Given the description of an element on the screen output the (x, y) to click on. 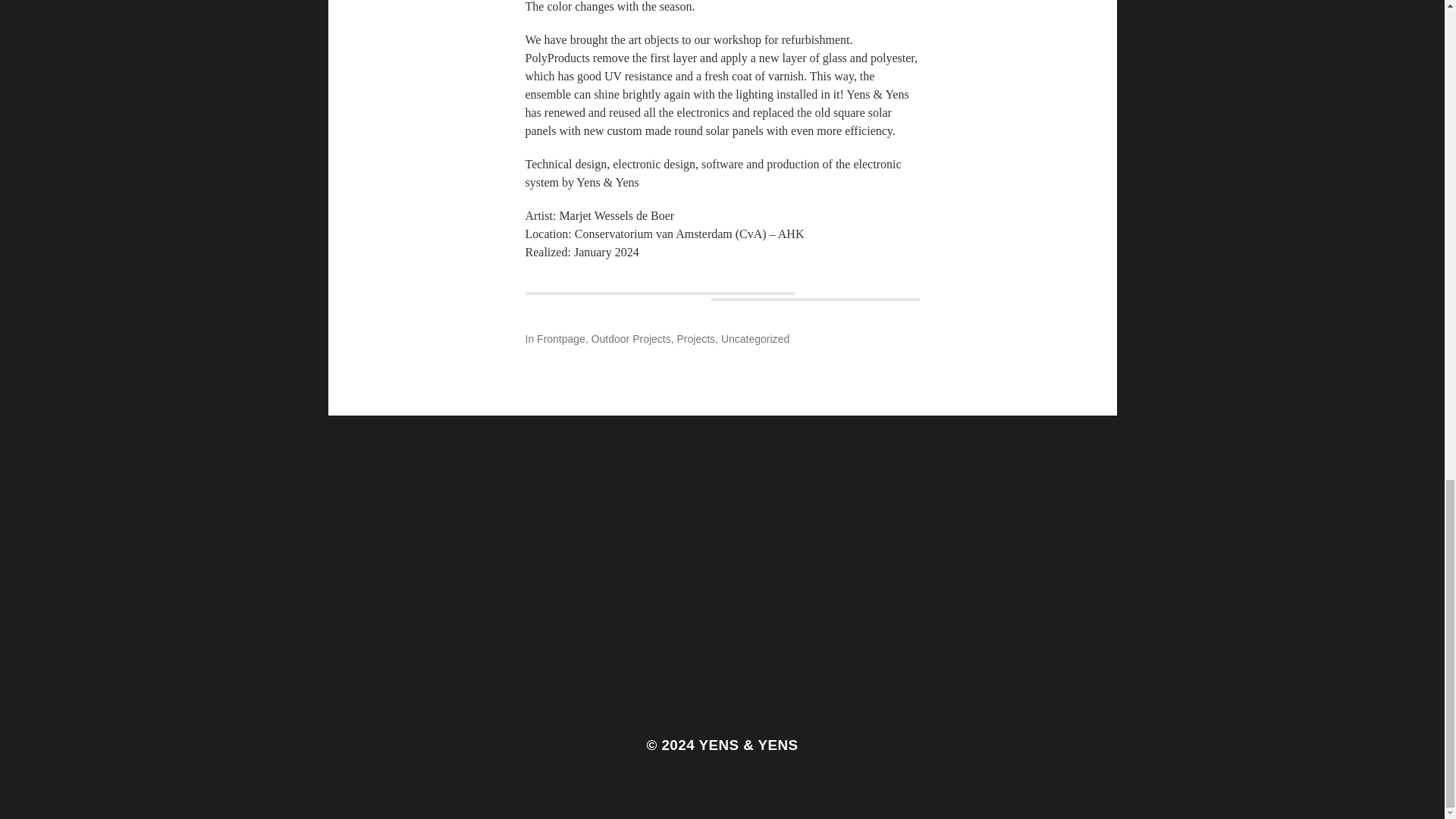
Outdoor Projects (631, 338)
Projects (696, 338)
Uncategorized (754, 338)
Frontpage (561, 338)
